Given the description of an element on the screen output the (x, y) to click on. 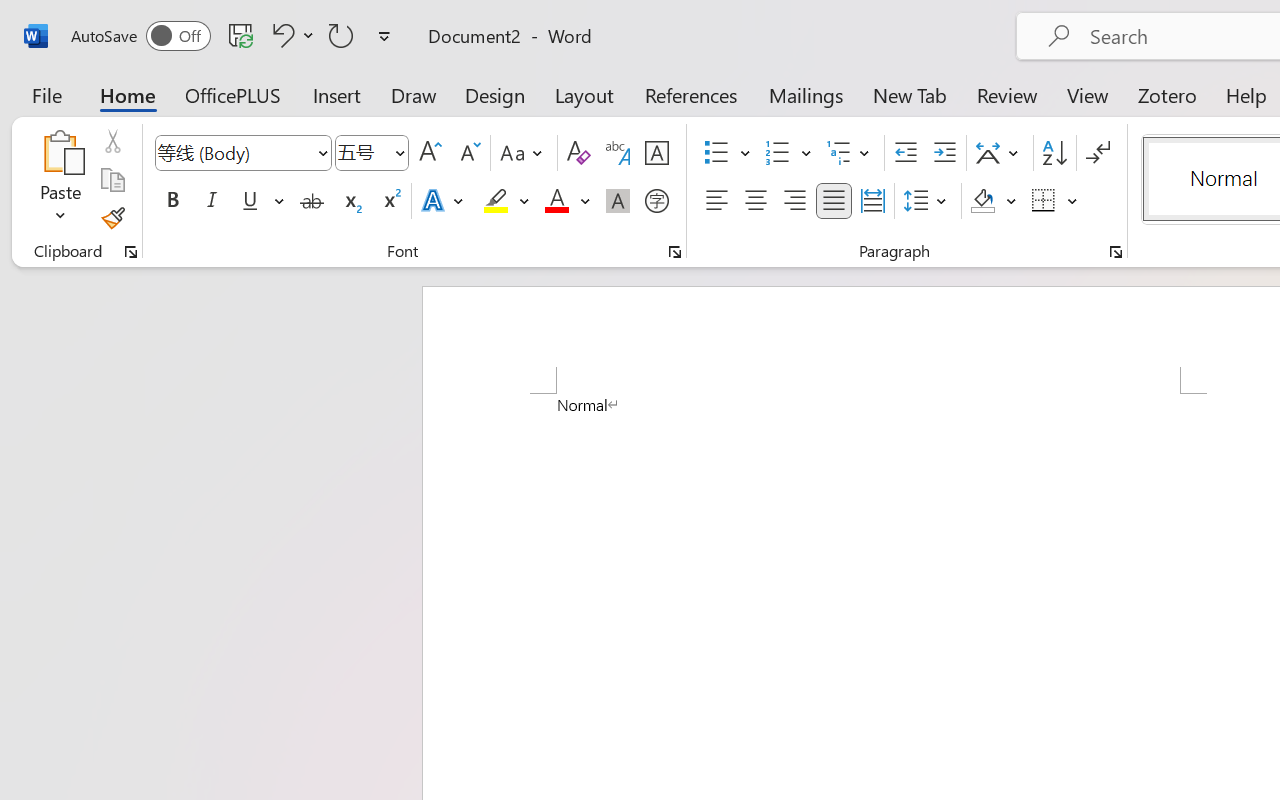
Grow Font (430, 153)
Strikethrough (312, 201)
Line and Paragraph Spacing (927, 201)
Underline (250, 201)
Align Right (794, 201)
Phonetic Guide... (618, 153)
Save (241, 35)
Bullets (716, 153)
Clear Formatting (578, 153)
Font (242, 153)
New Tab (909, 94)
View (1087, 94)
Increase Indent (944, 153)
File Tab (46, 94)
Enclose Characters... (656, 201)
